Given the description of an element on the screen output the (x, y) to click on. 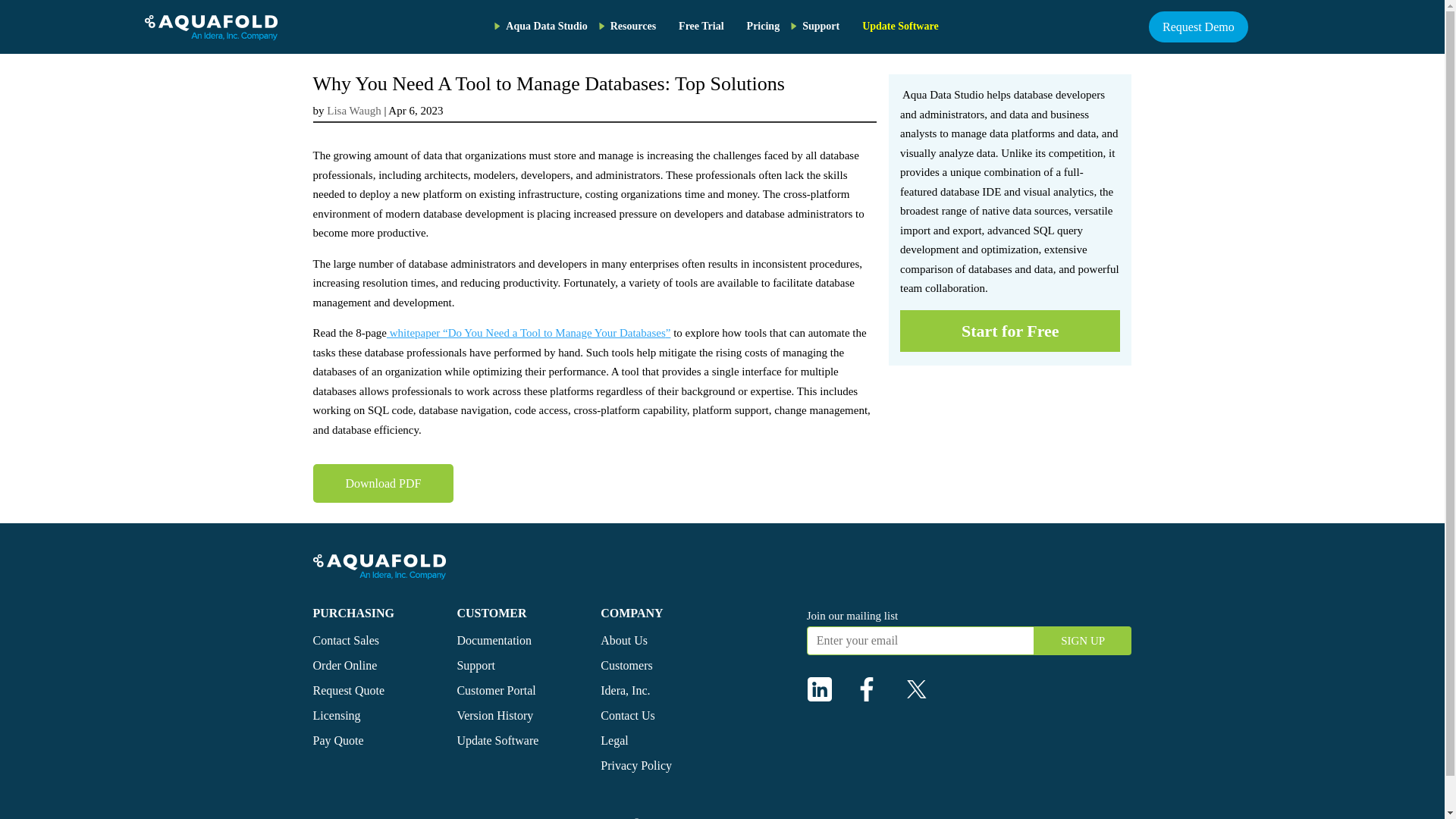
COMPANY (630, 612)
Contact Us (627, 715)
Update Software (497, 739)
Sign up (1082, 640)
Join our mailing list (852, 615)
Free Trial (700, 26)
Update Software (899, 26)
PURCHASING (353, 612)
Legal (613, 739)
Version History (494, 715)
aquafold-logo (210, 27)
Start for Free (1009, 331)
Order Online (345, 665)
Request Demo (1197, 26)
Documentation (494, 640)
